Given the description of an element on the screen output the (x, y) to click on. 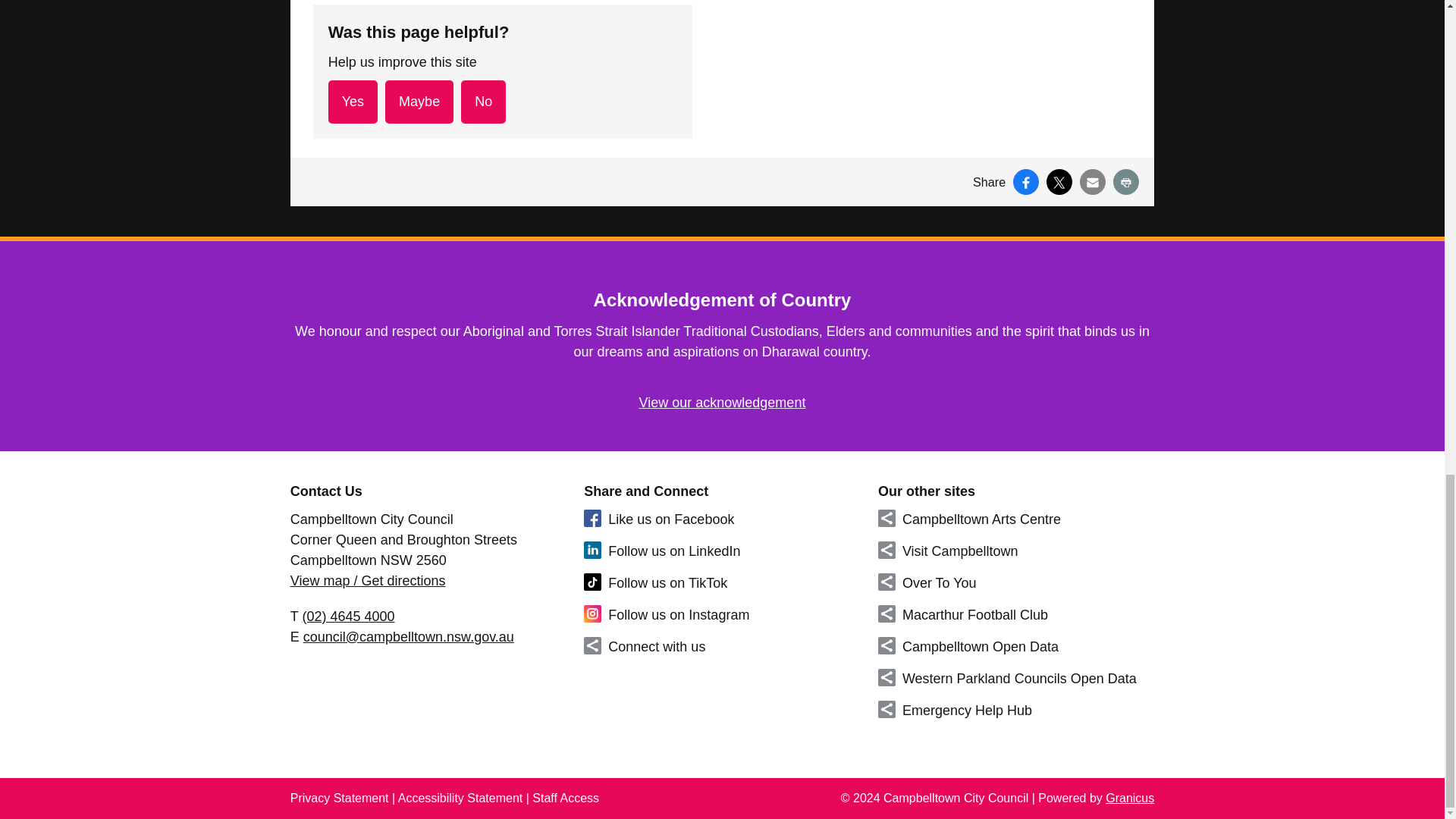
Yes (353, 101)
Yes, this page was helpful (353, 101)
No (483, 101)
Maybe (418, 101)
No, this page was not helpful (483, 101)
